Given the description of an element on the screen output the (x, y) to click on. 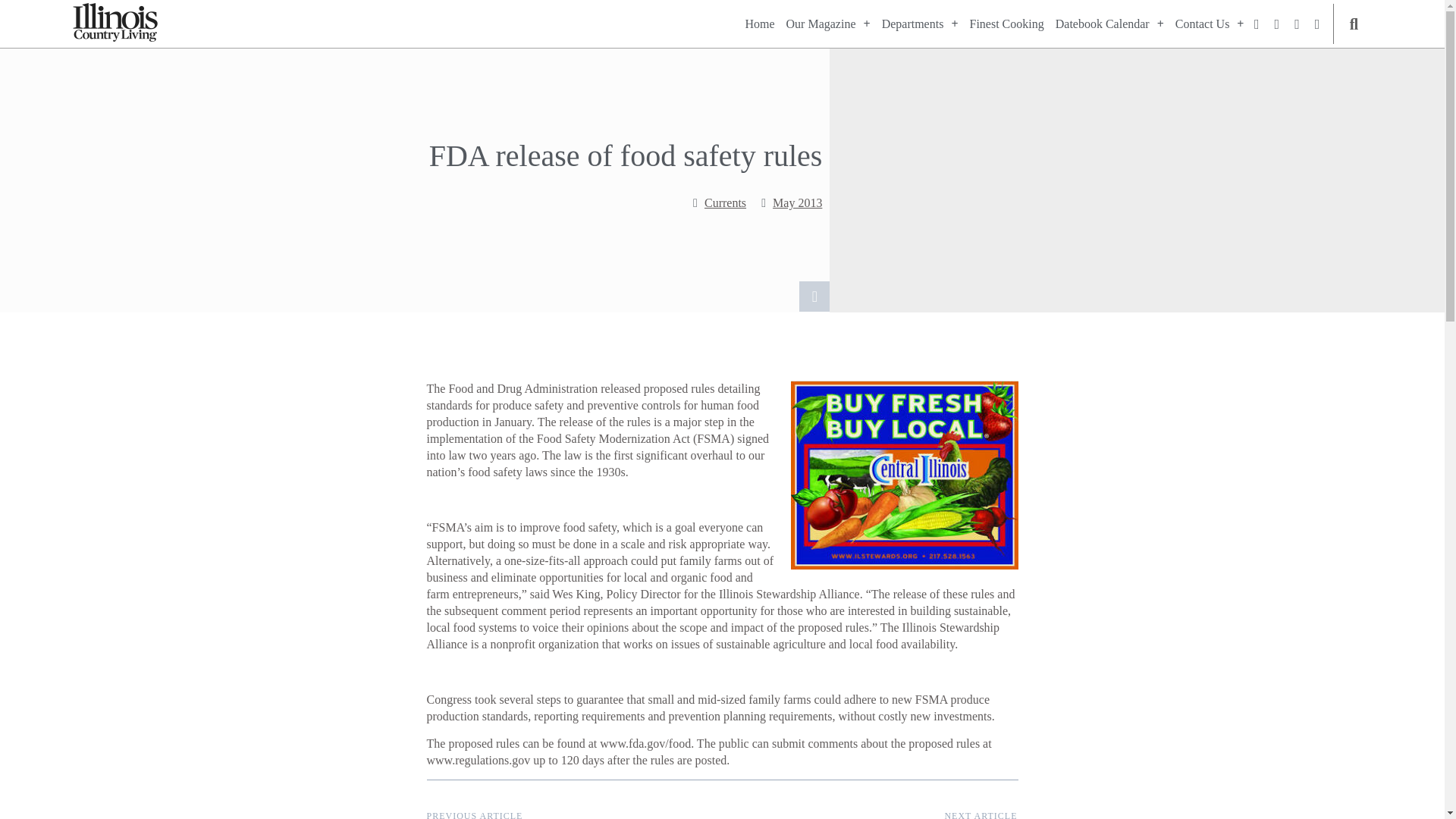
Home (758, 24)
Datebook Calendar (1110, 24)
Finest Cooking (1005, 24)
Contact Us (1209, 24)
ICL-logo-blk (114, 22)
Our Magazine (828, 24)
Departments (919, 24)
